Given the description of an element on the screen output the (x, y) to click on. 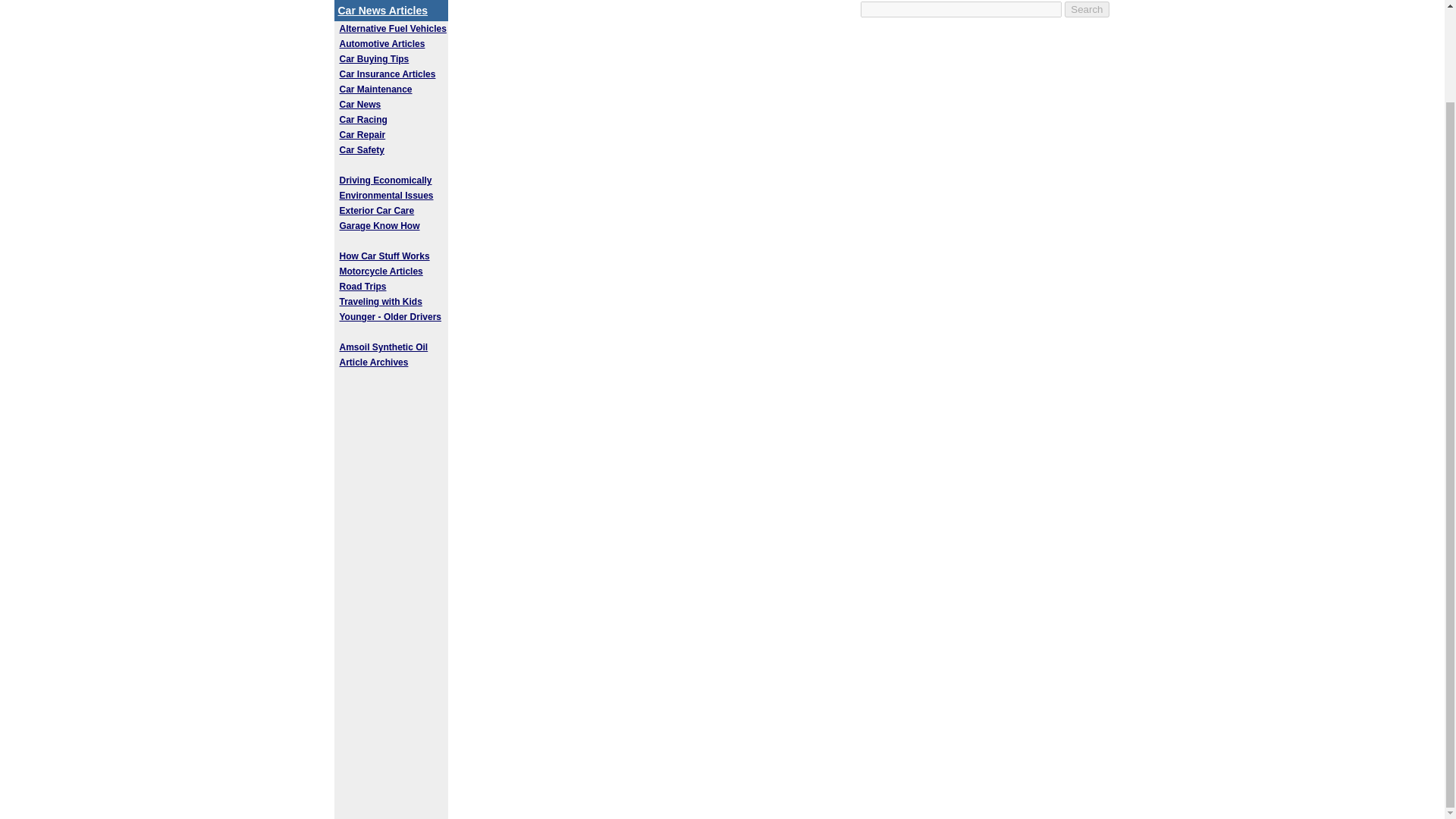
Car Maintenance (375, 89)
Amsoil Synthetic Oil (383, 347)
Car Racing (363, 119)
Automotive Articles (382, 43)
Car Insurance Articles (387, 73)
Road Trips (363, 286)
Exterior Car Care (376, 210)
Alternative Fuel Vehicles (392, 28)
Car News (360, 104)
Car Repair (362, 134)
